Given the description of an element on the screen output the (x, y) to click on. 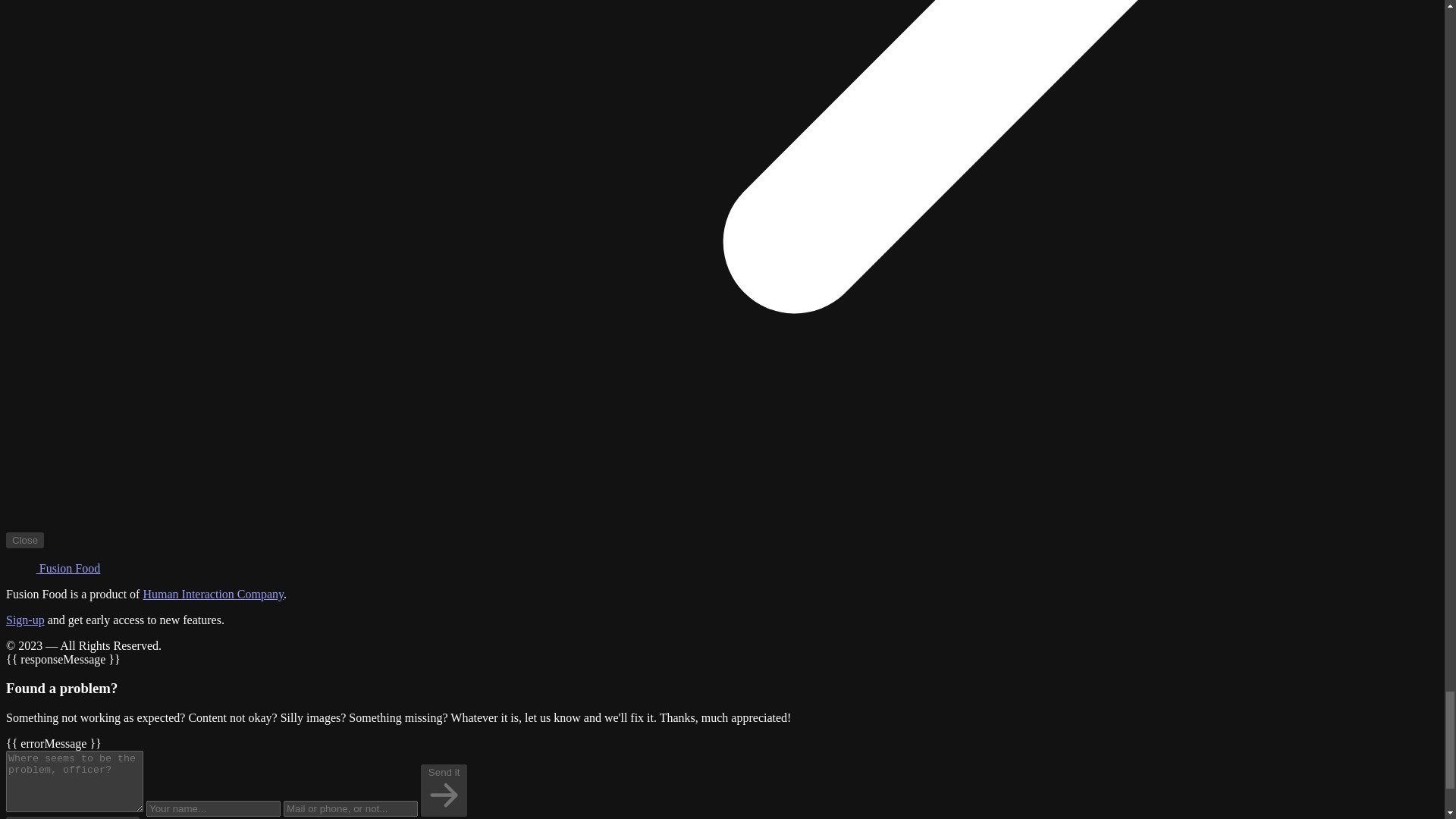
Close (24, 539)
Human Interaction Company (212, 594)
Fusion Food (52, 567)
Sign-up (25, 619)
